Given the description of an element on the screen output the (x, y) to click on. 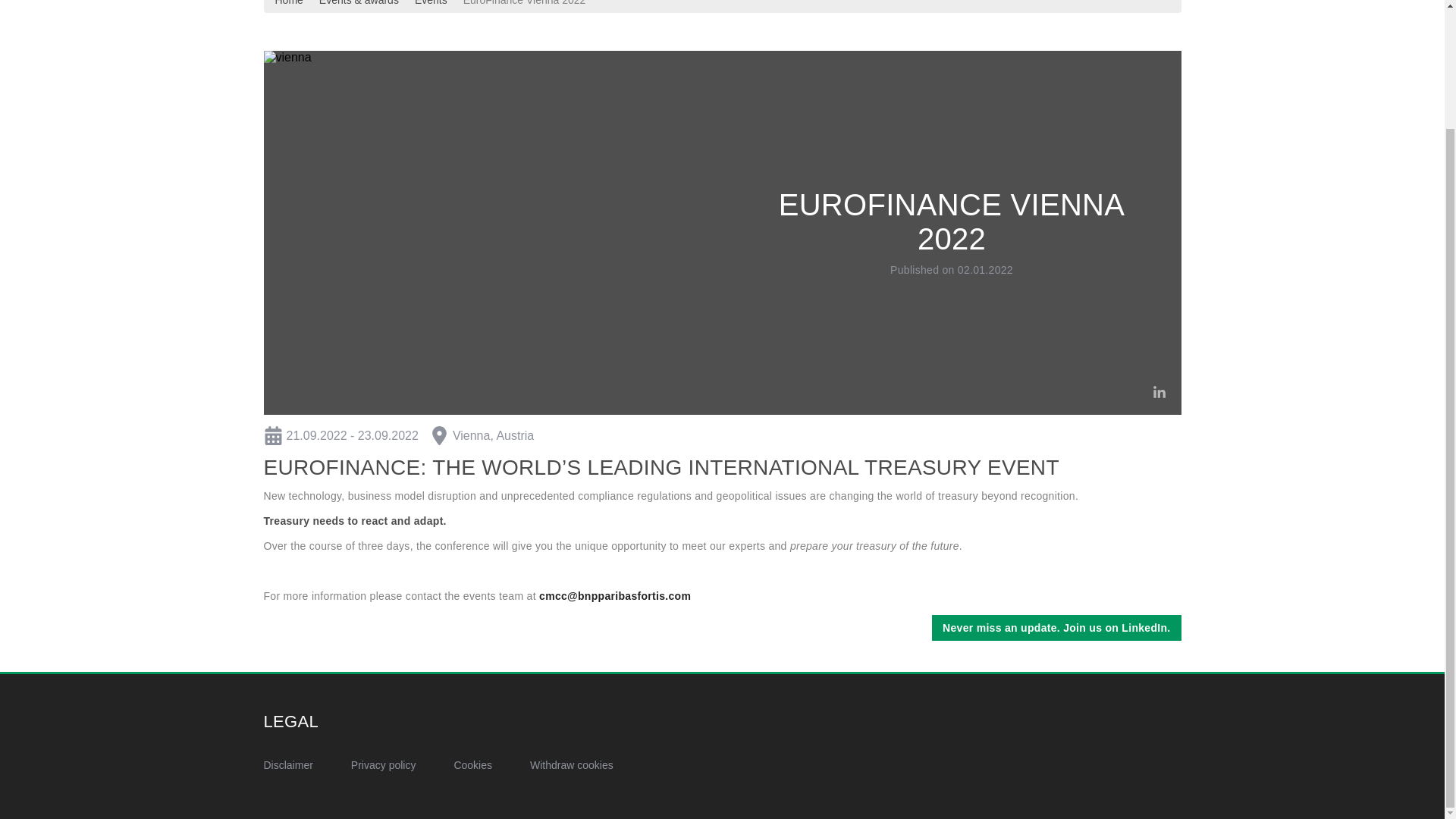
Never miss an update. Join us on LinkedIn. (1055, 627)
Home (288, 2)
Disclaimer (288, 765)
Cookies (472, 765)
Events (430, 2)
Withdraw cookies (570, 765)
Privacy policy (383, 765)
